Given the description of an element on the screen output the (x, y) to click on. 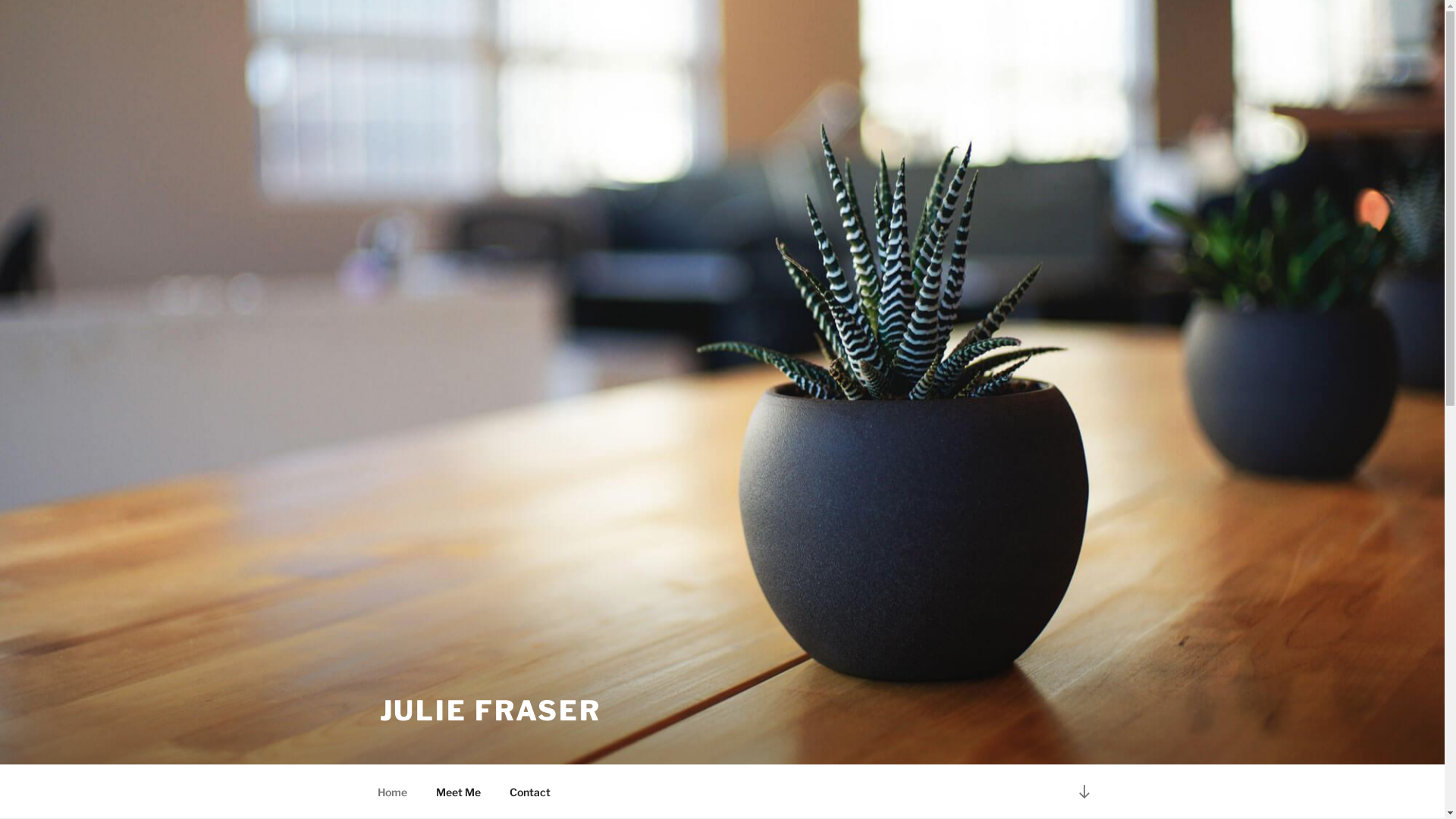
Meet Me Element type: text (458, 791)
Contact Element type: text (529, 791)
Scroll down to content Element type: text (1083, 790)
Home Element type: text (392, 791)
JULIE FRASER Element type: text (490, 710)
